Given the description of an element on the screen output the (x, y) to click on. 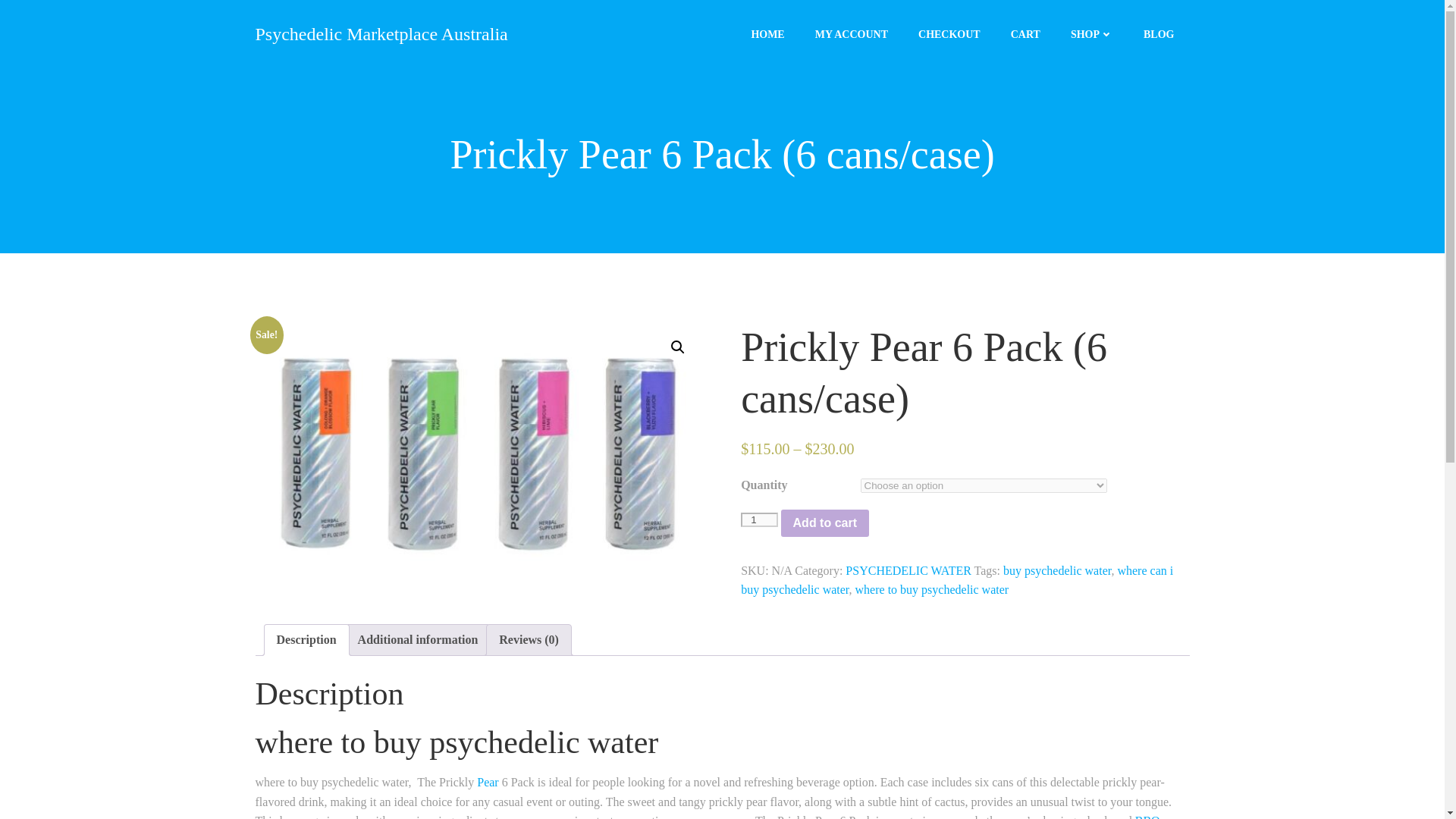
MY ACCOUNT (851, 33)
Psychedelic Marketplace Australia (380, 33)
HOME (767, 33)
SHOP (1091, 33)
CART (1025, 33)
psychedelic-water-main-1.jpg (478, 447)
CHECKOUT (948, 33)
BLOG (1157, 33)
1 (759, 519)
